Given the description of an element on the screen output the (x, y) to click on. 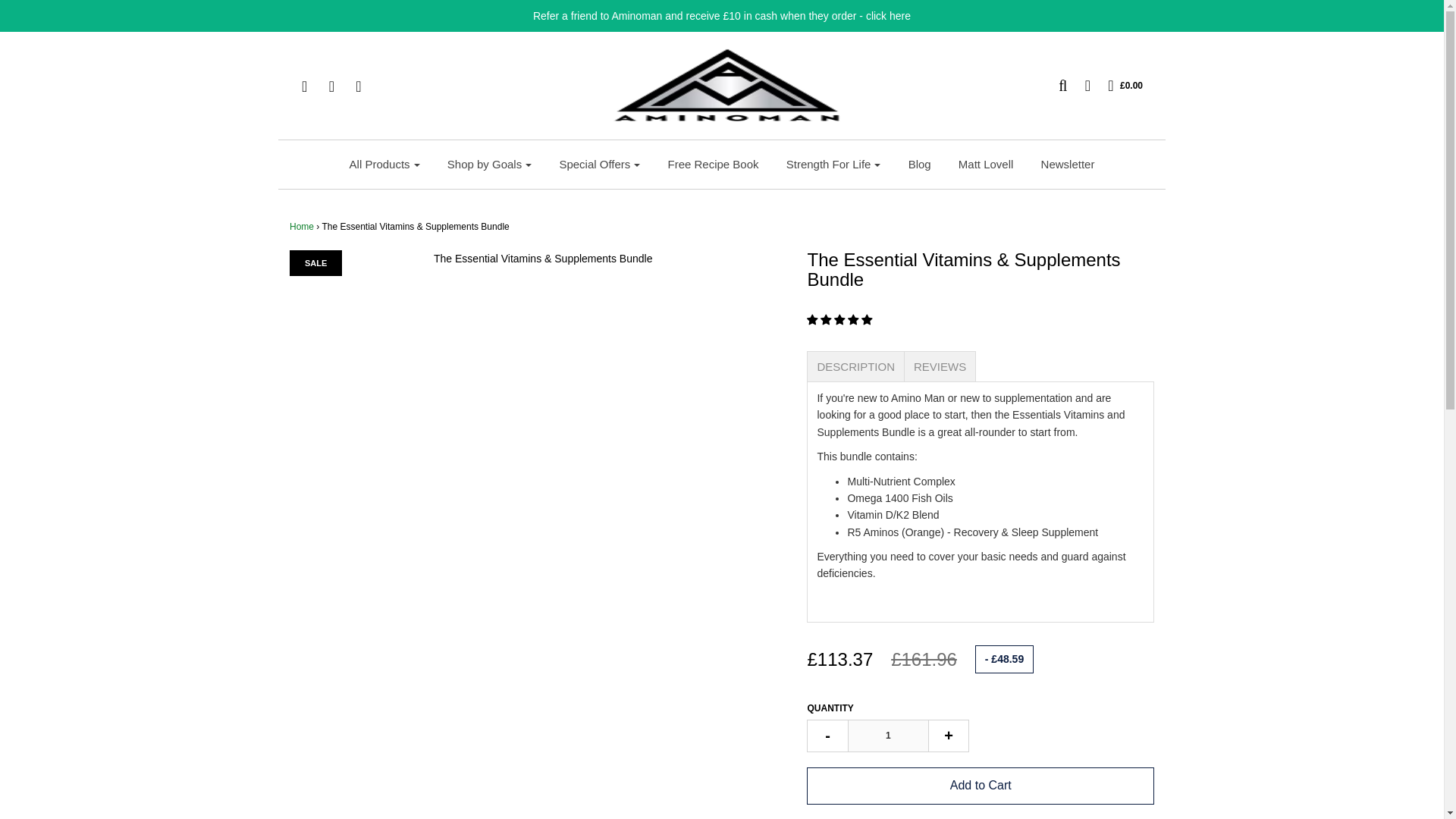
All Products (383, 164)
1 (887, 735)
Back to the frontpage (301, 226)
Your basket (1117, 85)
Log in (1080, 85)
Search (1055, 85)
